Given the description of an element on the screen output the (x, y) to click on. 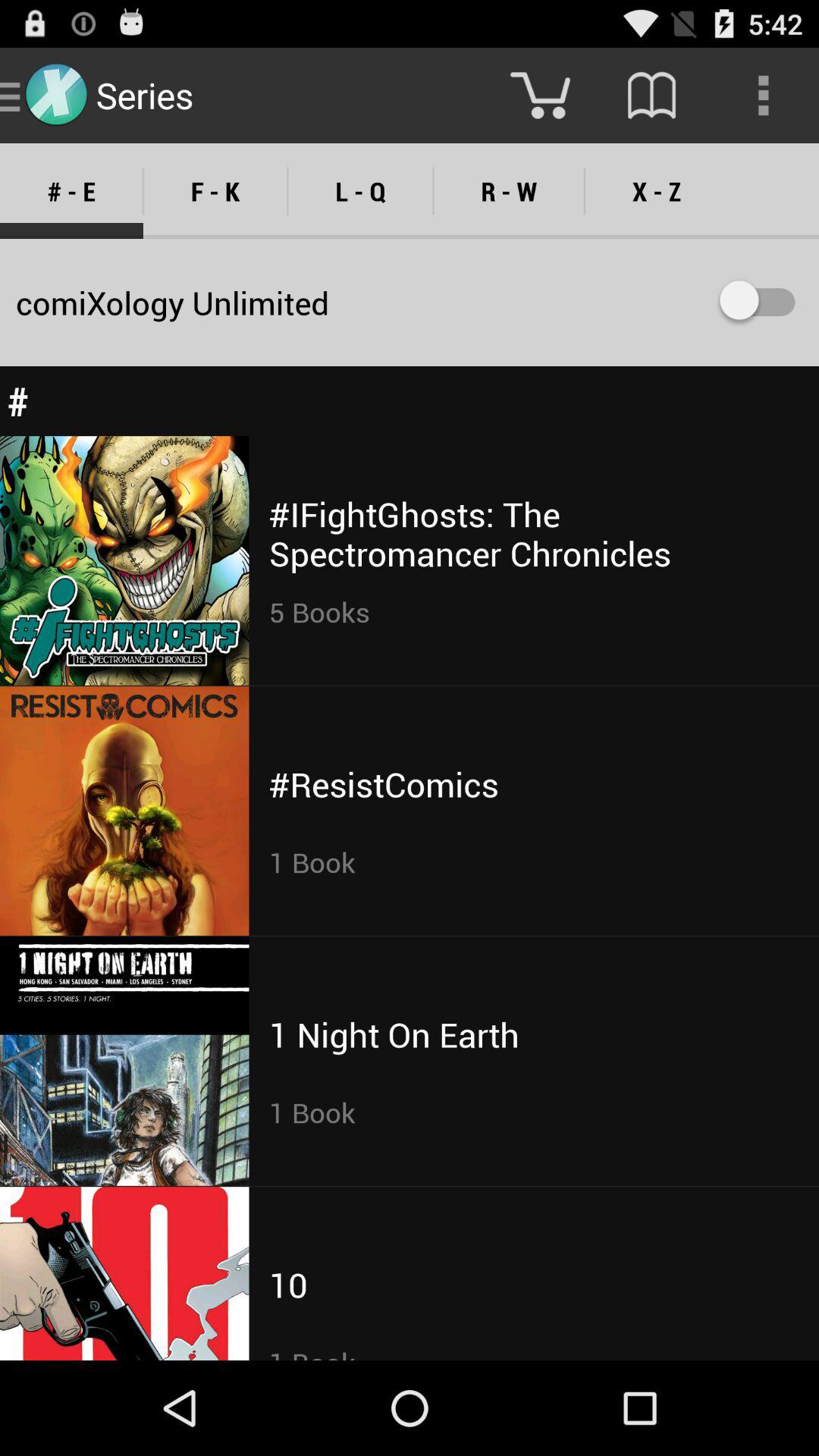
swipe until the 5 books item (319, 611)
